Given the description of an element on the screen output the (x, y) to click on. 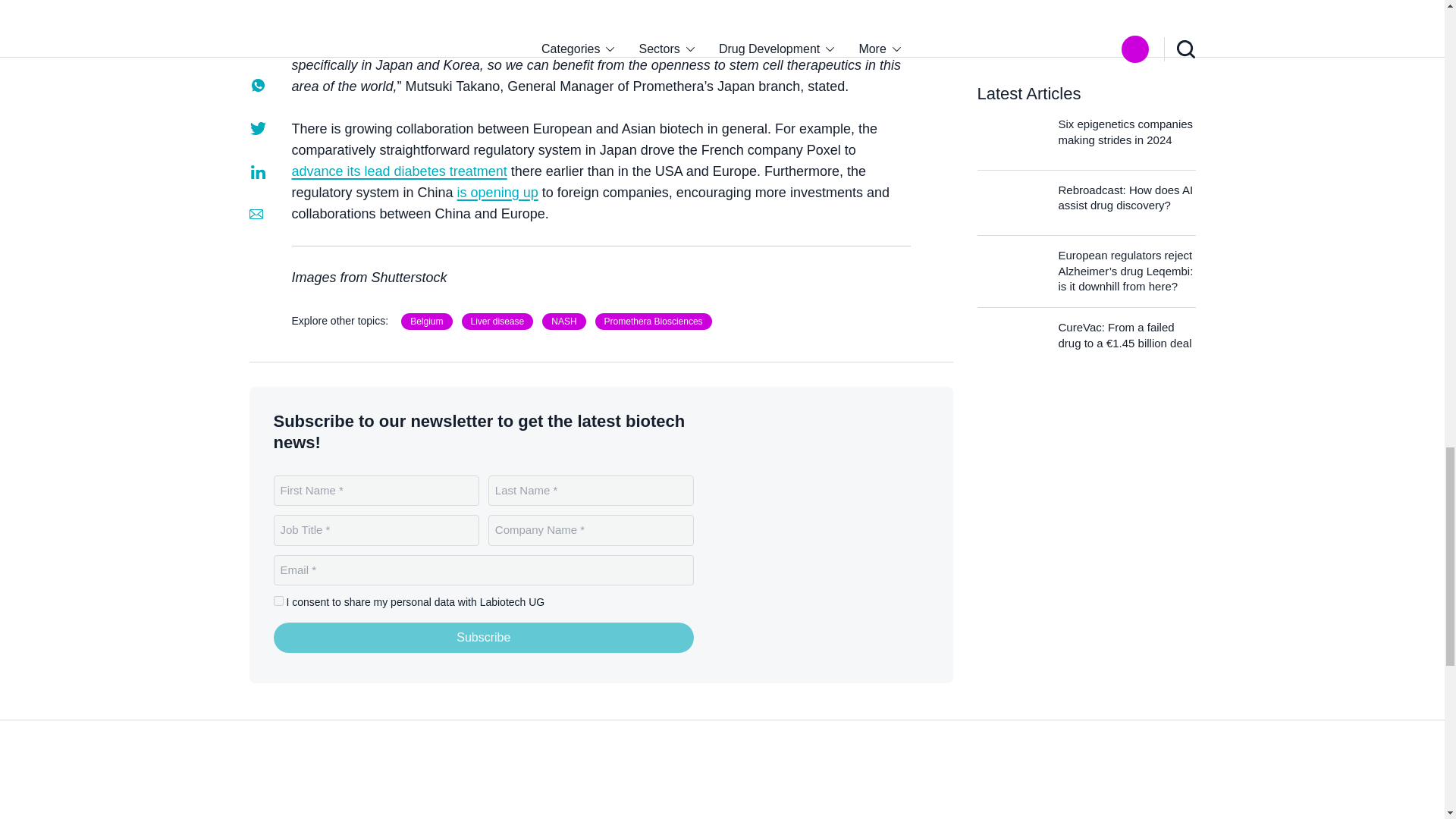
Labiotech.eu (309, 794)
Subscribe (483, 637)
1 (277, 601)
